Given the description of an element on the screen output the (x, y) to click on. 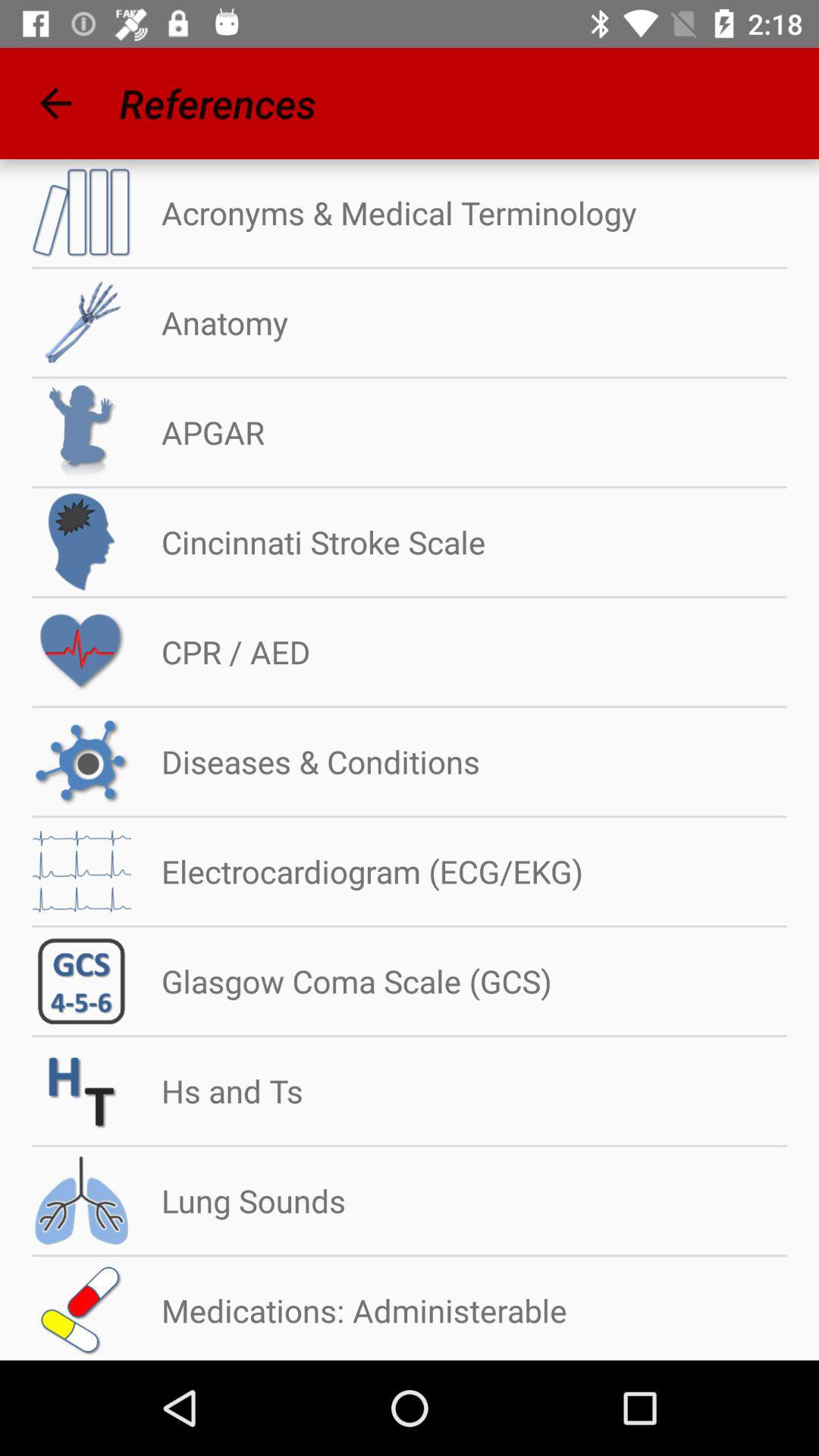
swipe to glasgow coma scale item (341, 981)
